Given the description of an element on the screen output the (x, y) to click on. 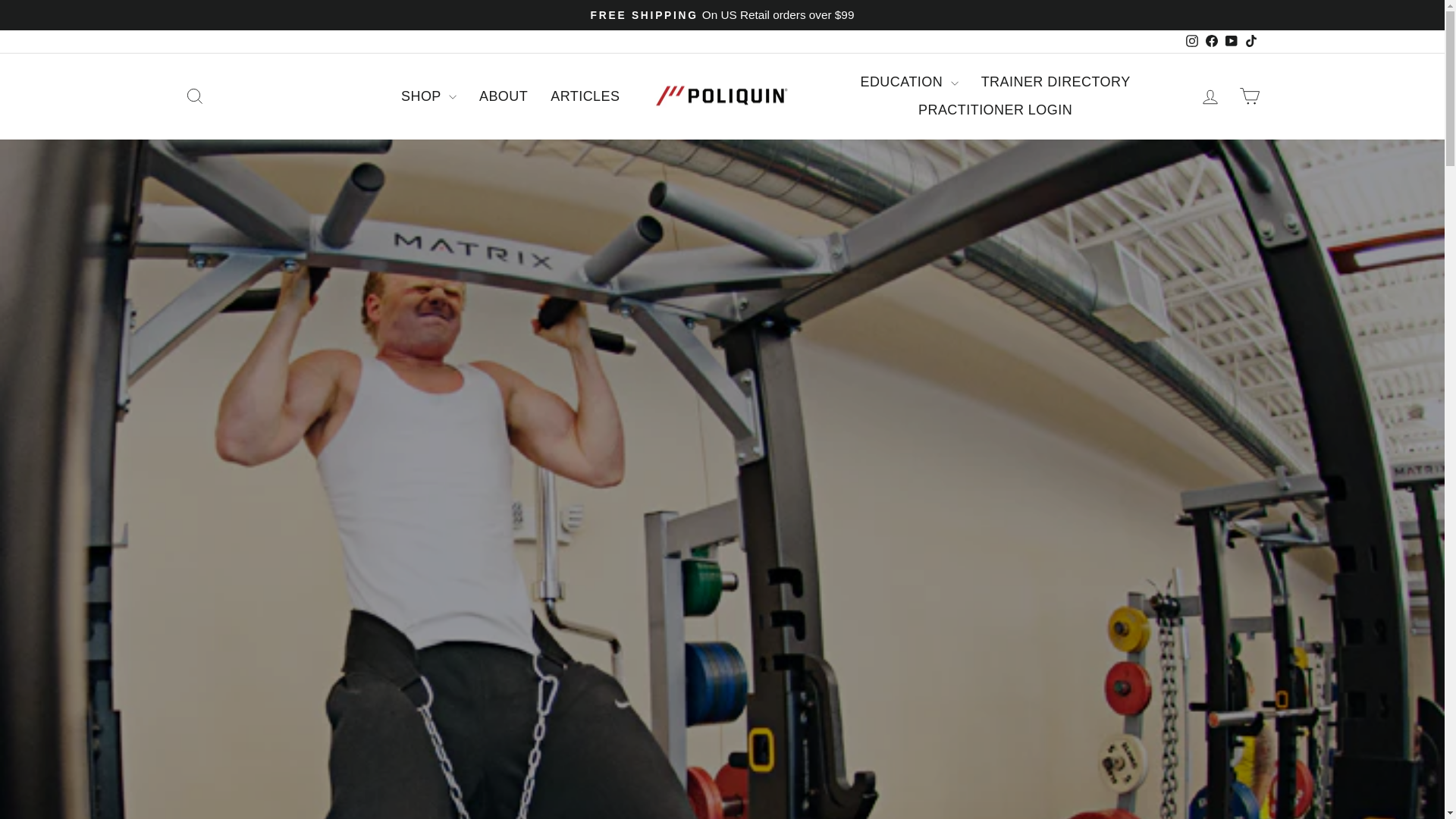
instagram (1192, 40)
ACCOUNT (1210, 96)
ICON-SEARCH (194, 96)
